Given the description of an element on the screen output the (x, y) to click on. 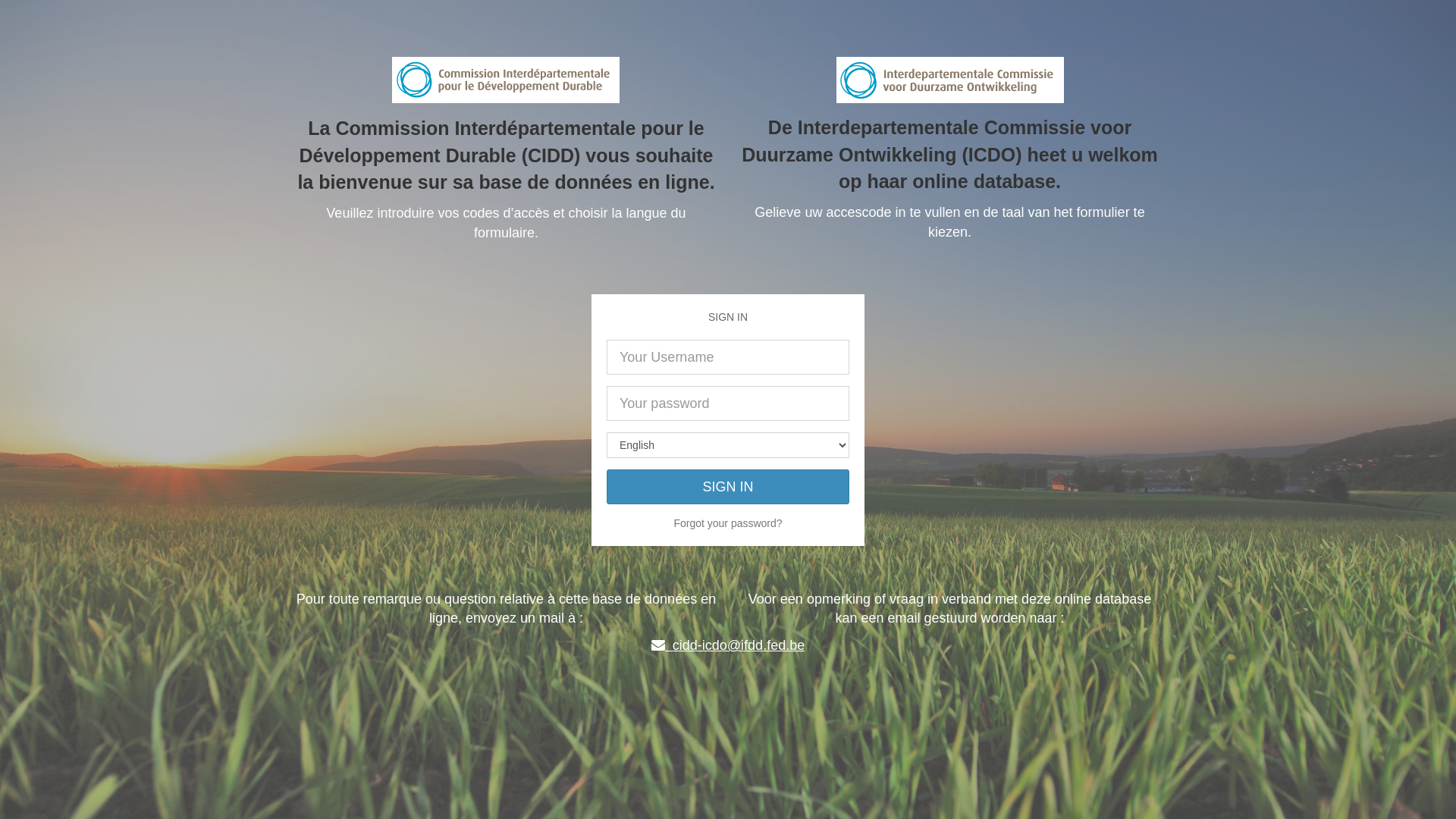
  cidd-icdo@ifdd.fed.be Element type: text (727, 644)
Forgot your password? Element type: text (727, 523)
SIGN IN Element type: text (727, 486)
